Given the description of an element on the screen output the (x, y) to click on. 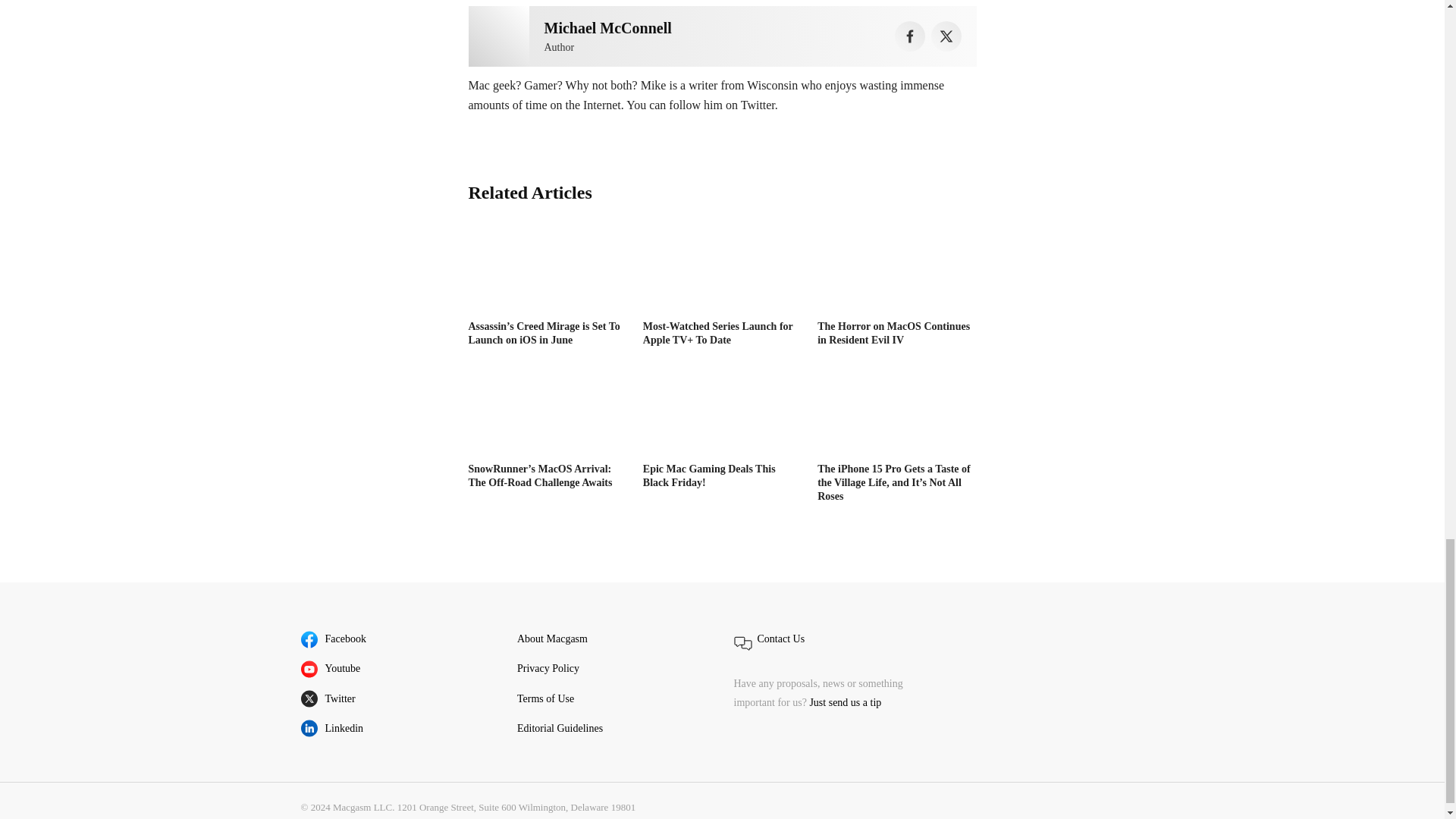
Michael McConnell (498, 35)
Michael McConnell (607, 27)
Facebook (909, 36)
Twitter (945, 36)
